Given the description of an element on the screen output the (x, y) to click on. 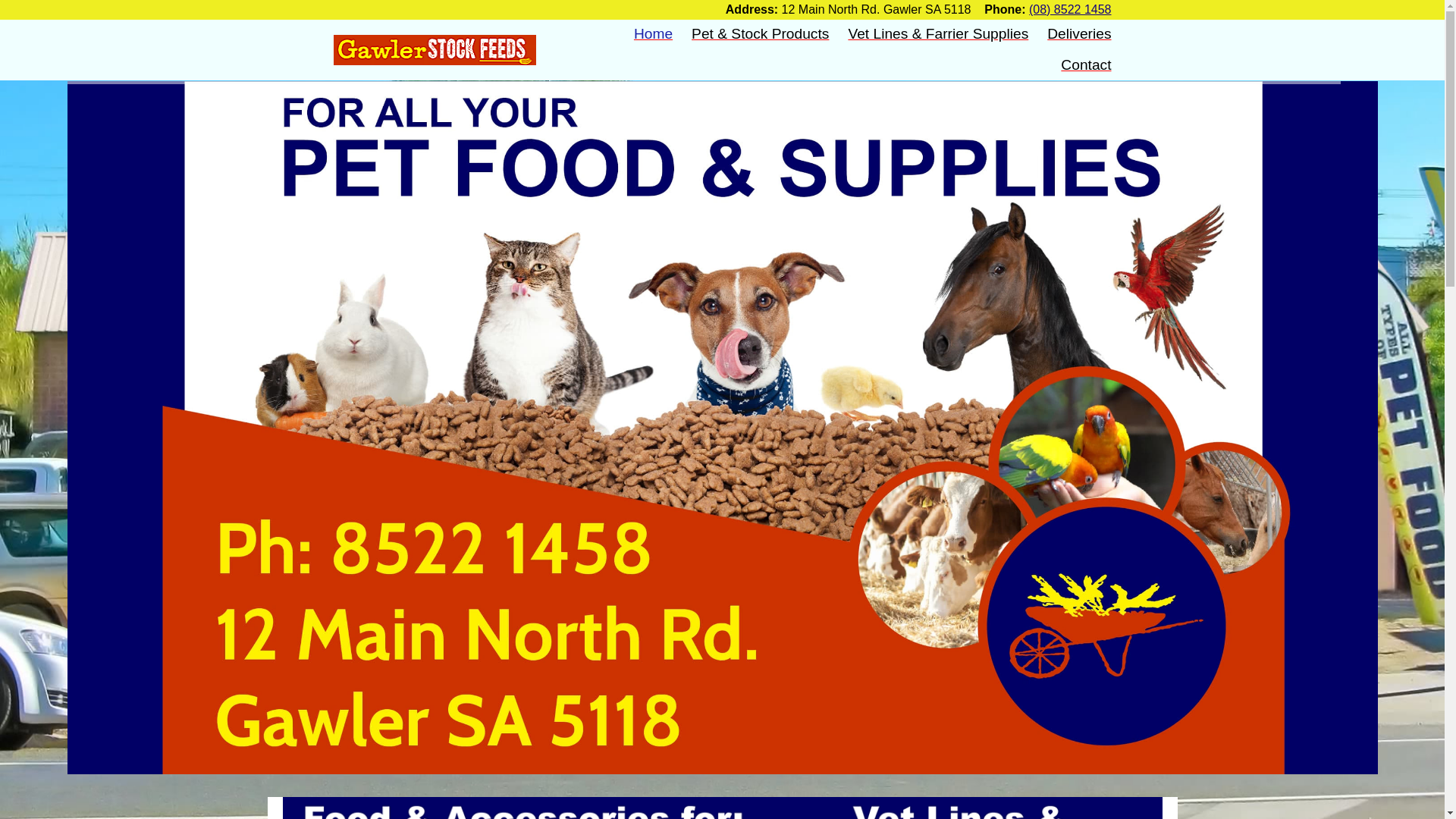
Deliveries Element type: text (1078, 34)
Home Element type: text (653, 34)
(08) 8522 1458 Element type: text (1070, 9)
Contact Element type: text (1085, 65)
Pet & Stock Products Element type: text (759, 34)
Home Element type: text (434, 48)
Vet Lines & Farrier Supplies Element type: text (937, 34)
Skip to content Element type: text (0, 0)
